Given the description of an element on the screen output the (x, y) to click on. 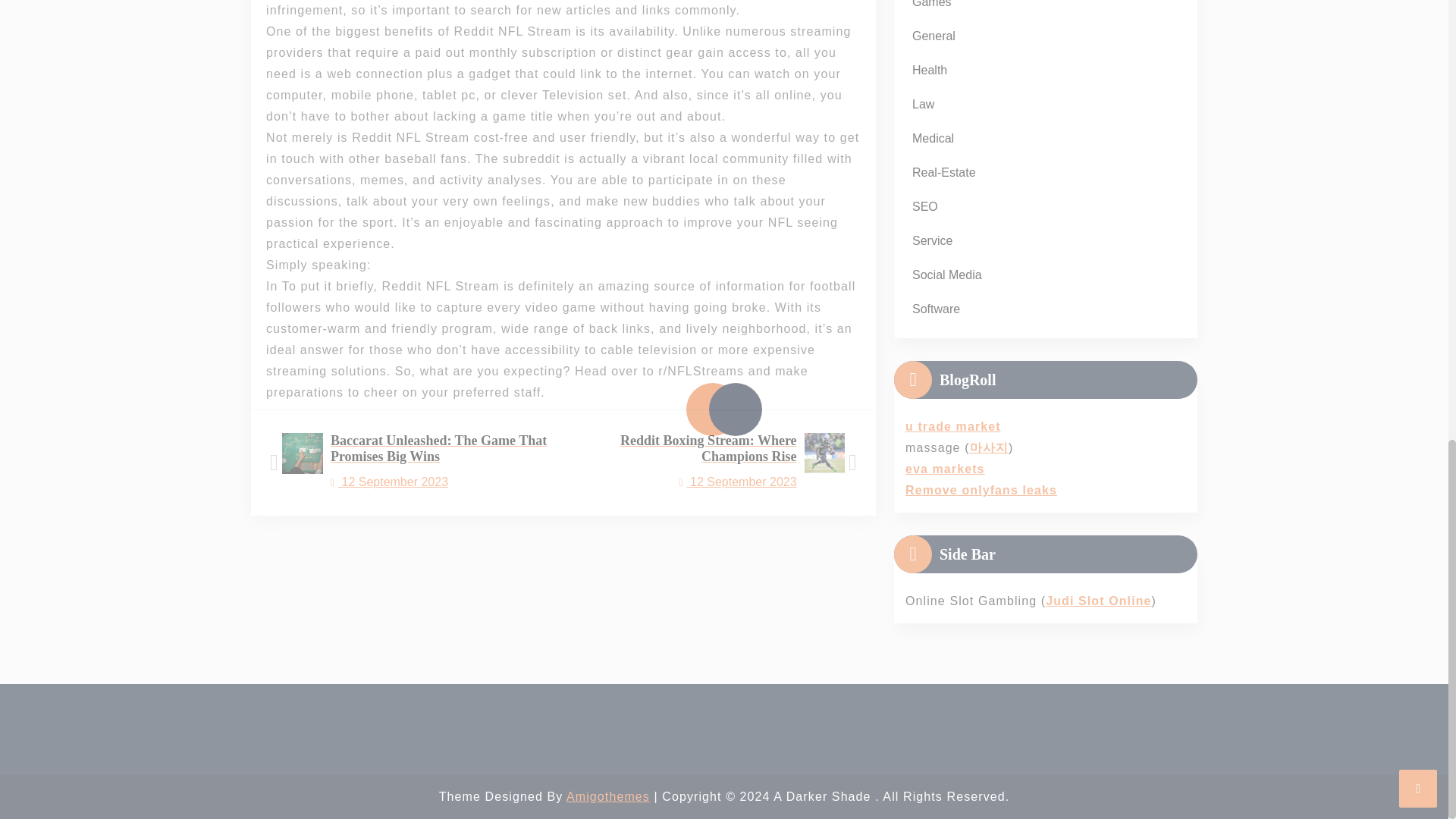
Games (931, 7)
General (933, 35)
